Given the description of an element on the screen output the (x, y) to click on. 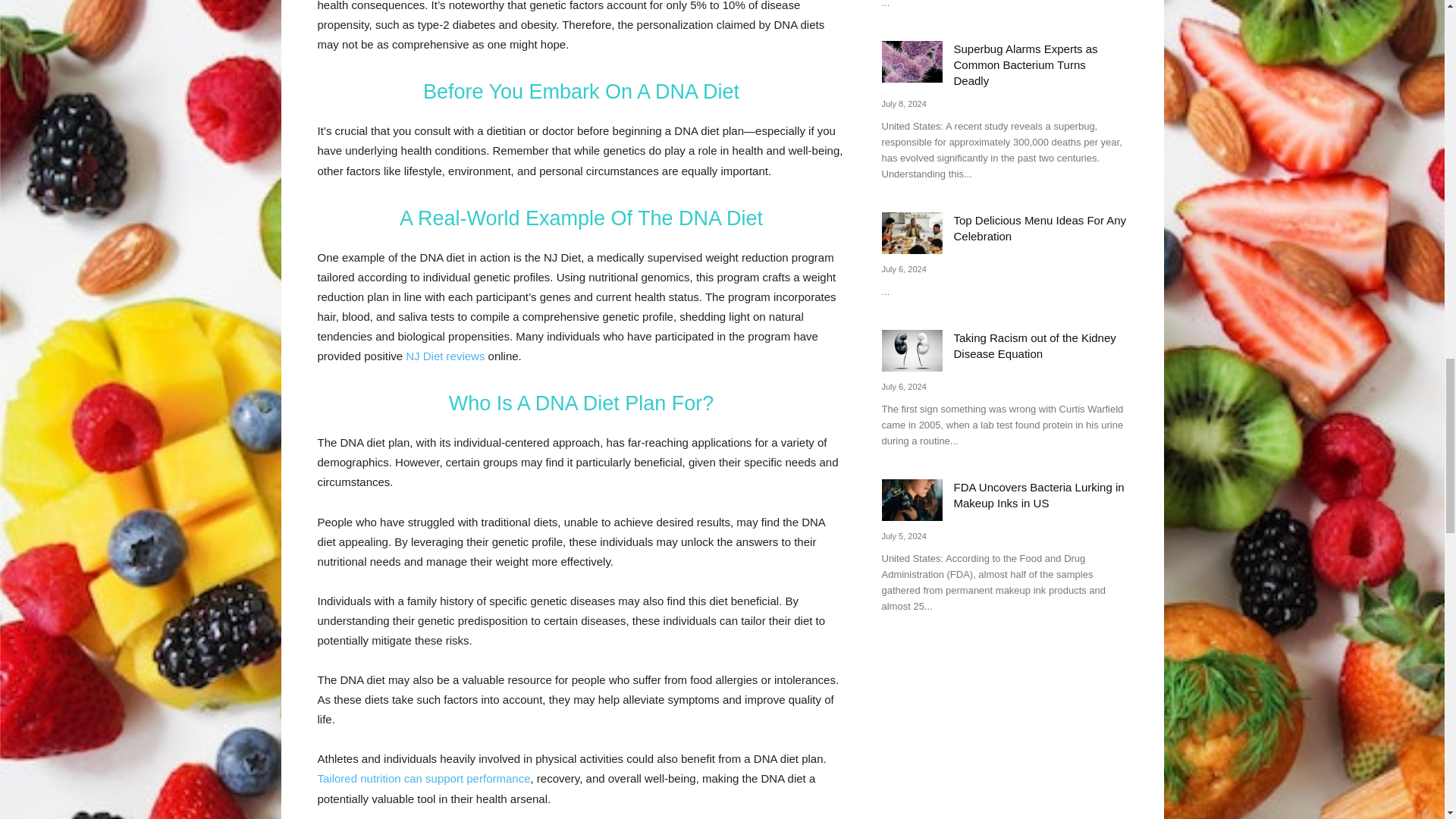
Tailored nutrition can support performance (423, 778)
NJ Diet reviews (445, 355)
